Given the description of an element on the screen output the (x, y) to click on. 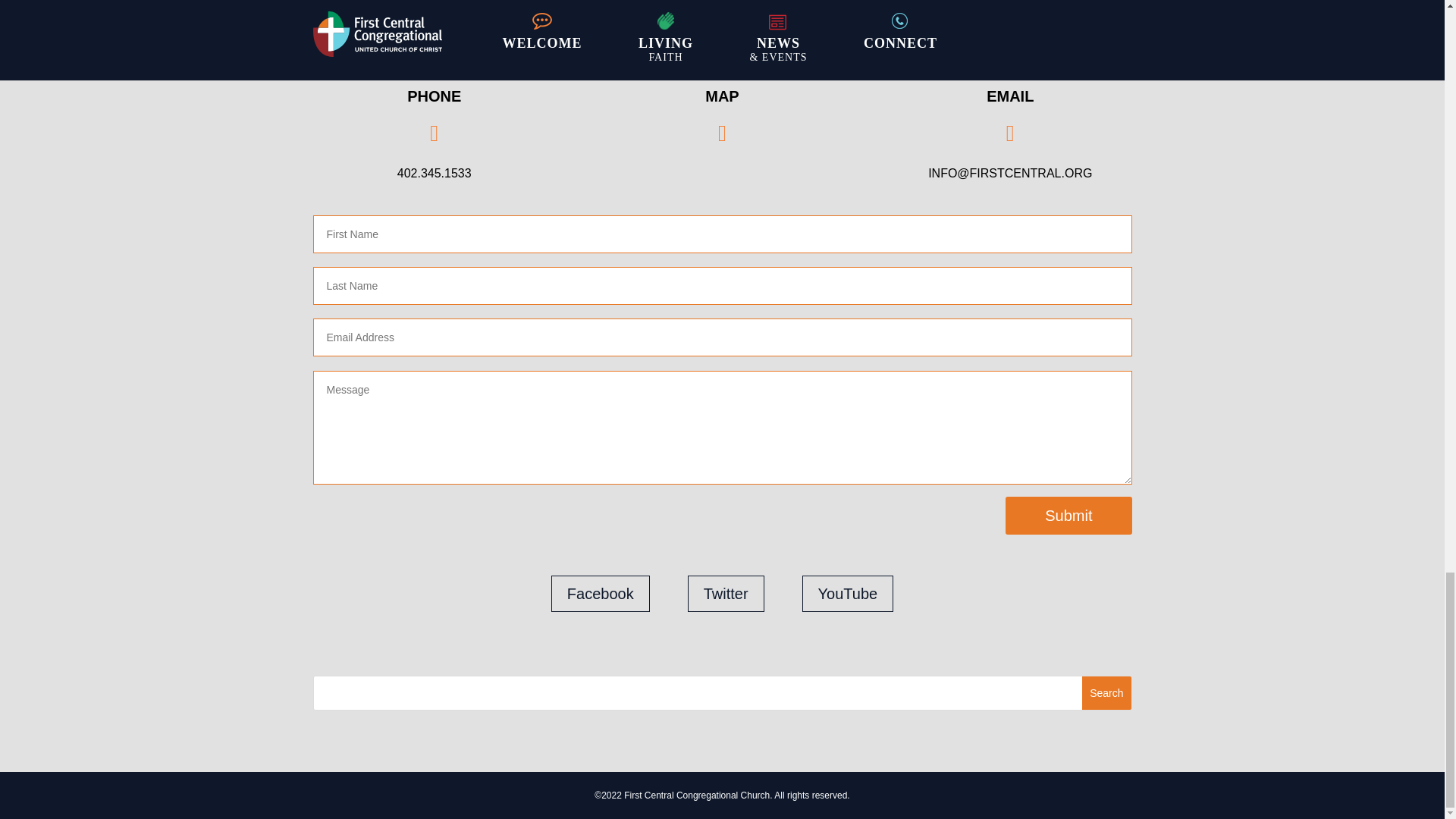
Search (1106, 693)
Search (1106, 693)
Submit (1068, 515)
YouTube (847, 593)
Facebook (600, 593)
Search (1106, 693)
Twitter (725, 593)
